Given the description of an element on the screen output the (x, y) to click on. 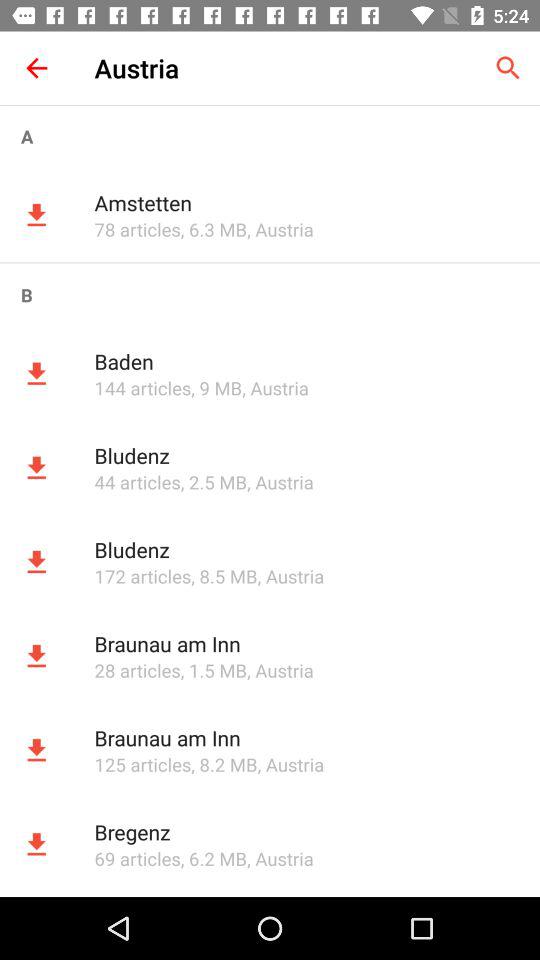
turn on the b icon (270, 294)
